Given the description of an element on the screen output the (x, y) to click on. 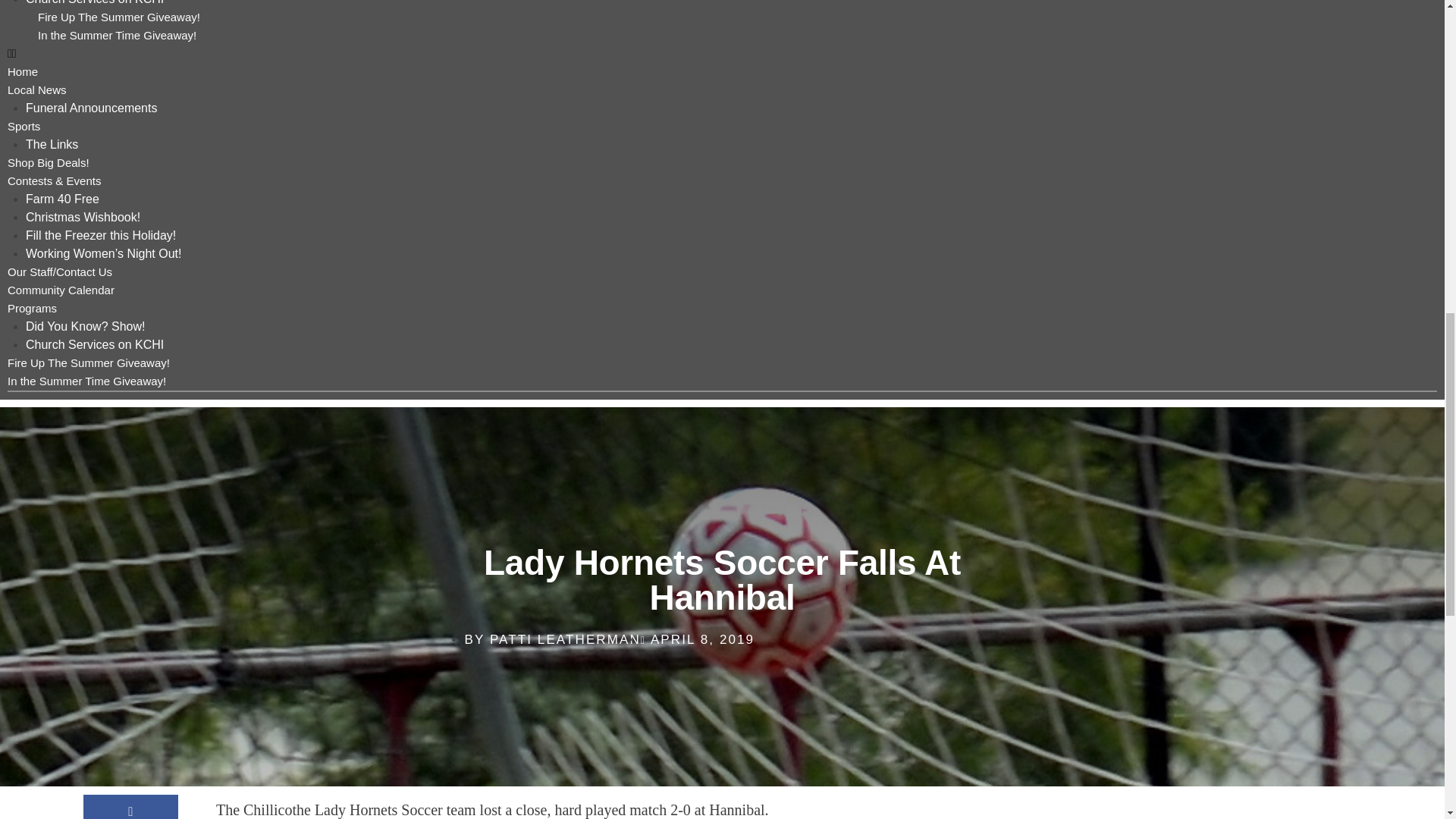
Did You Know? Show! (85, 326)
Funeral Announcements (91, 107)
Home (22, 71)
Church Services on KCHI (94, 2)
Church Services on KCHI (94, 344)
Community Calendar (61, 289)
Local News (36, 89)
Fill the Freezer this Holiday! (101, 235)
Farm 40 Free (62, 198)
In the Summer Time Giveaway! (117, 35)
Fire Up The Summer Giveaway! (118, 18)
Christmas Wishbook! (82, 216)
Shop Big Deals! (47, 162)
The Links (52, 144)
Sports (23, 125)
